Given the description of an element on the screen output the (x, y) to click on. 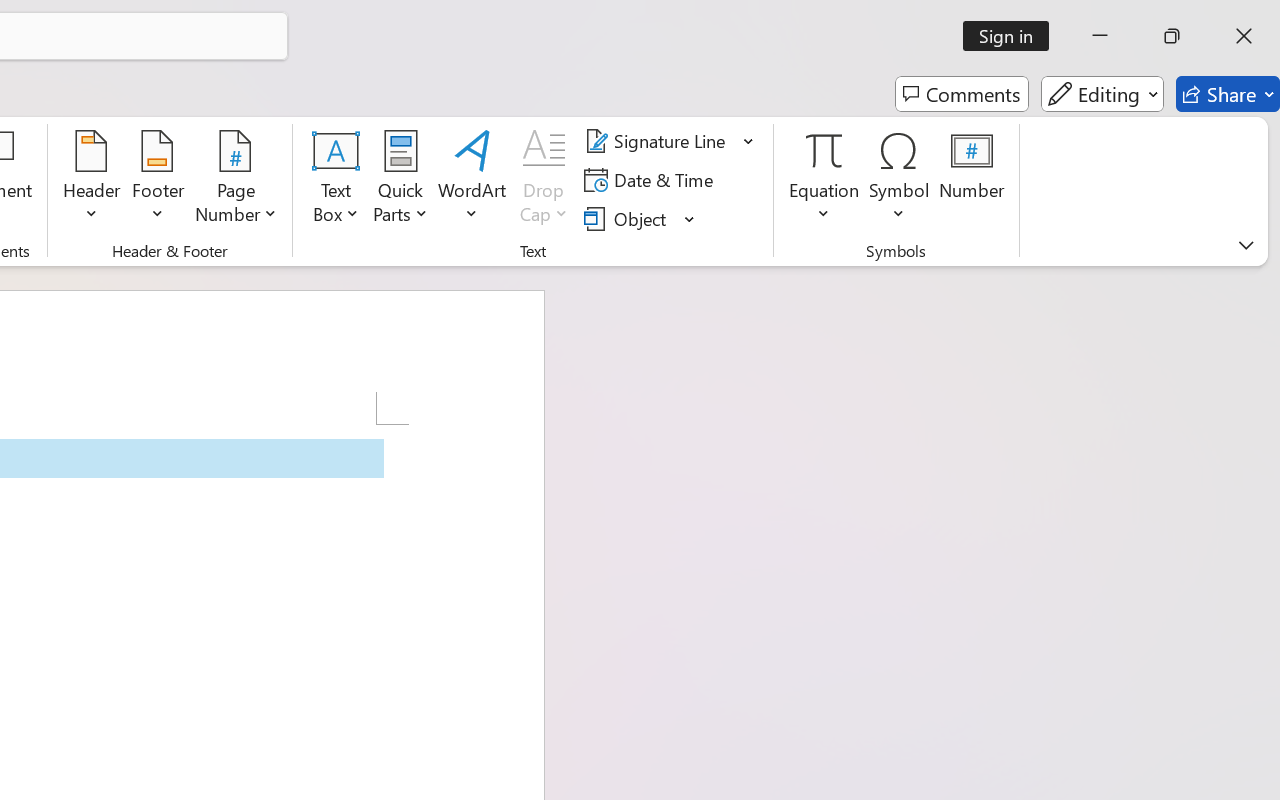
Object... (628, 218)
Symbol (899, 179)
Signature Line (658, 141)
Editing (1101, 94)
Quick Parts (400, 179)
Equation (823, 179)
Page Number (236, 179)
Signature Line (669, 141)
Header (92, 179)
WordArt (472, 179)
